Given the description of an element on the screen output the (x, y) to click on. 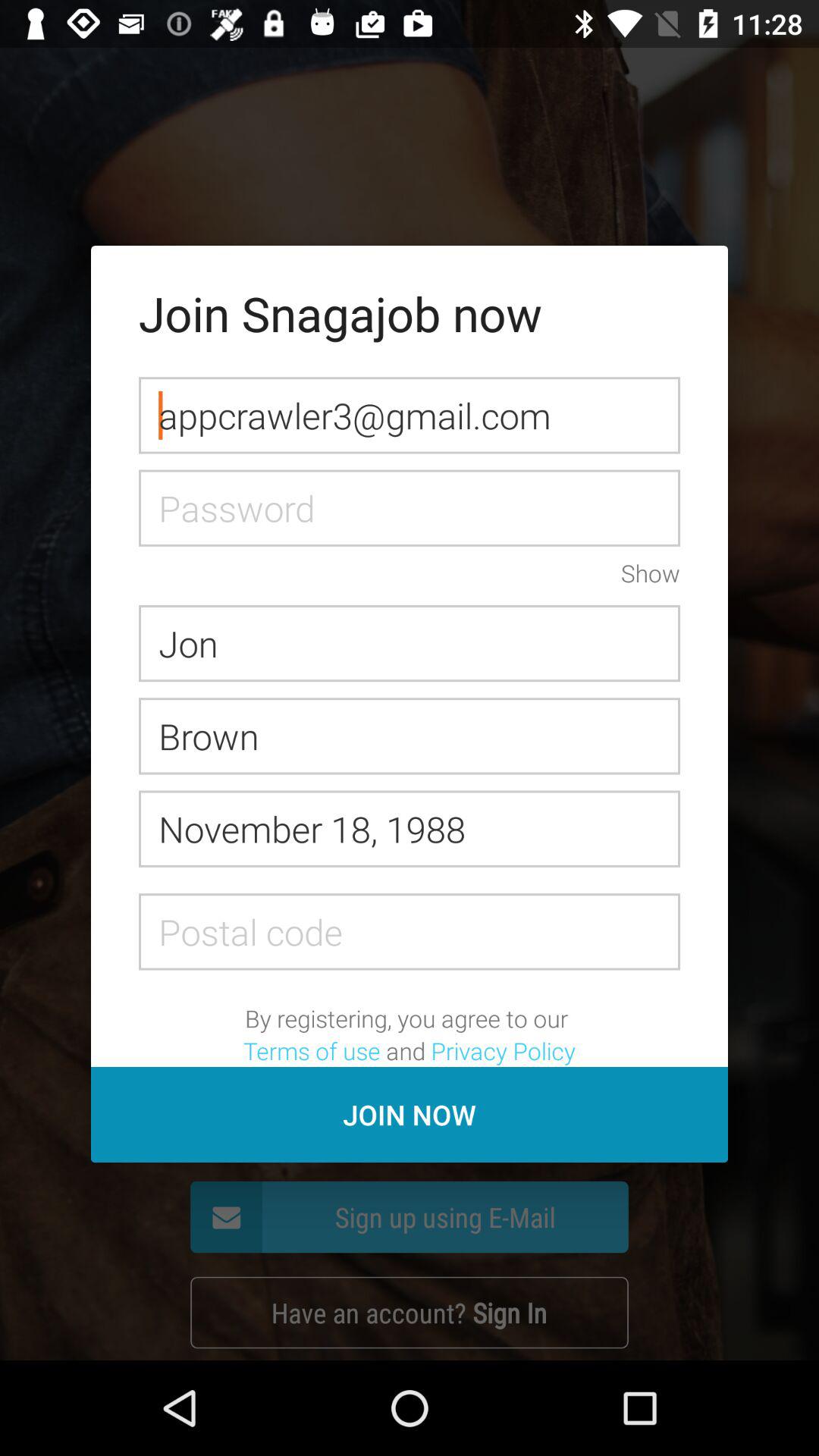
change the mnp code mobile no (409, 931)
